Given the description of an element on the screen output the (x, y) to click on. 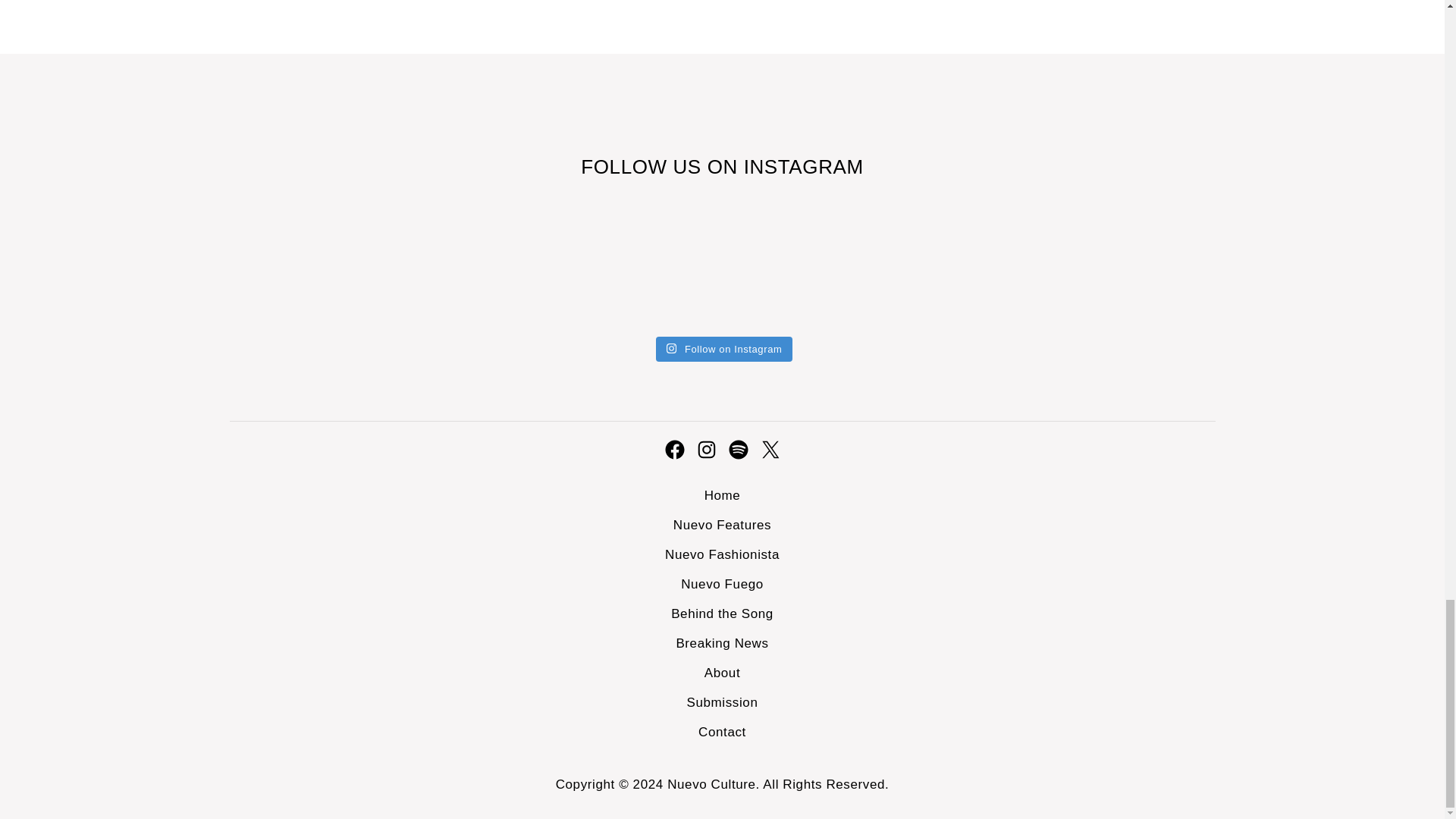
Facebook (673, 449)
FOLLOW US ON  (661, 166)
Spotify (737, 449)
Follow on Instagram (724, 349)
Instagram (705, 449)
